Given the description of an element on the screen output the (x, y) to click on. 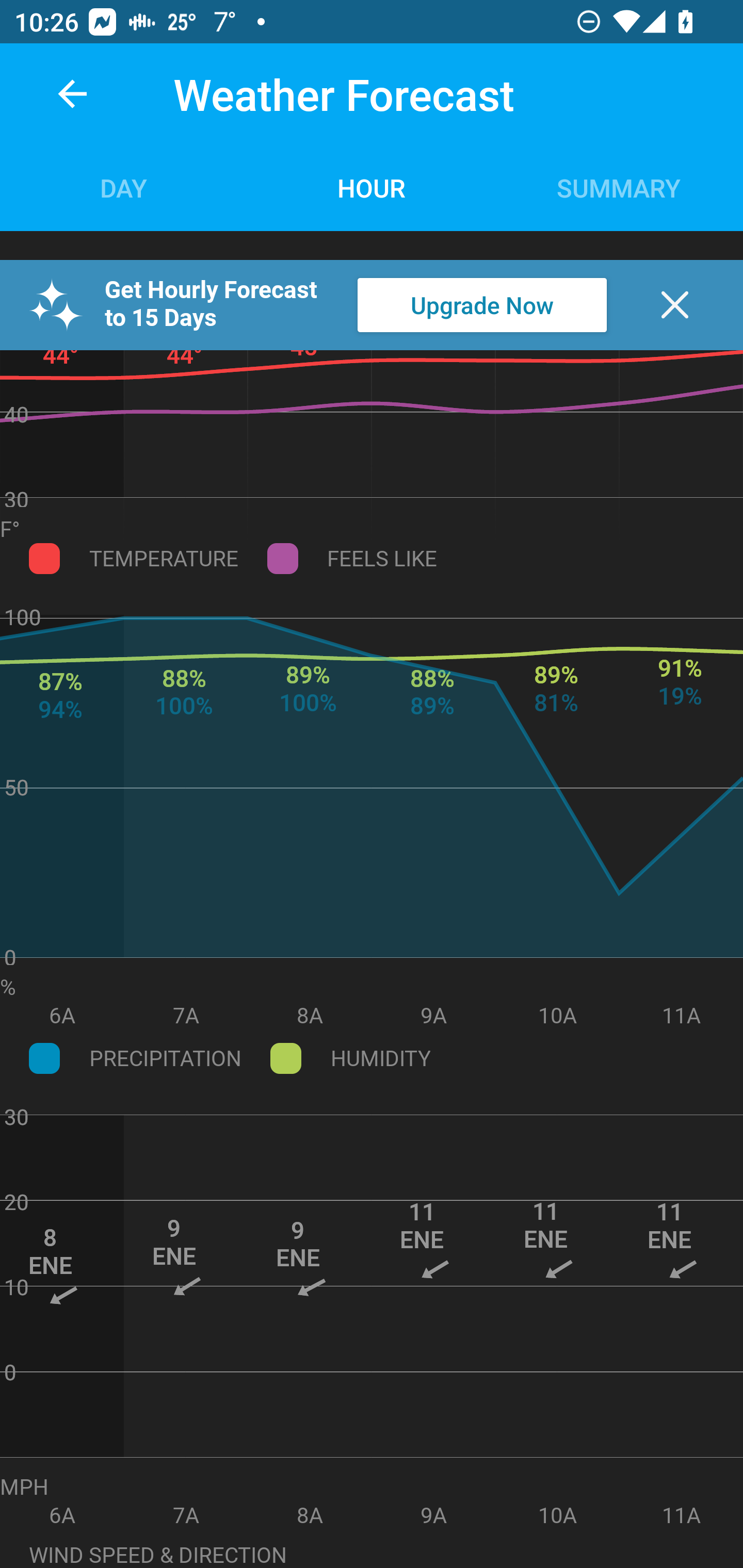
back (71, 93)
Day Tab DAY (123, 187)
Summary Tab SUMMARY (619, 187)
Upgrade Now (482, 304)
